Given the description of an element on the screen output the (x, y) to click on. 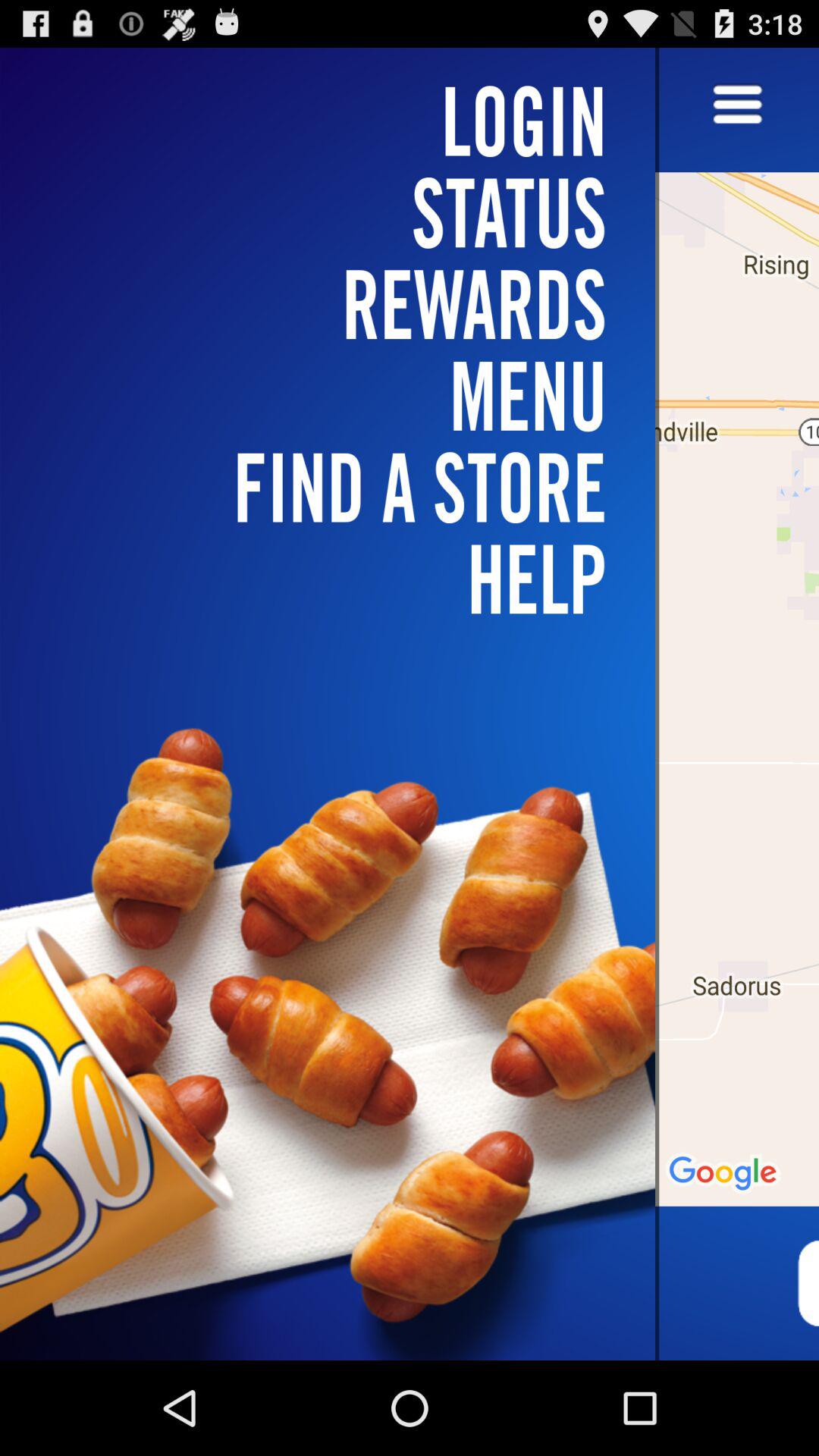
turn off rewards icon (336, 303)
